Given the description of an element on the screen output the (x, y) to click on. 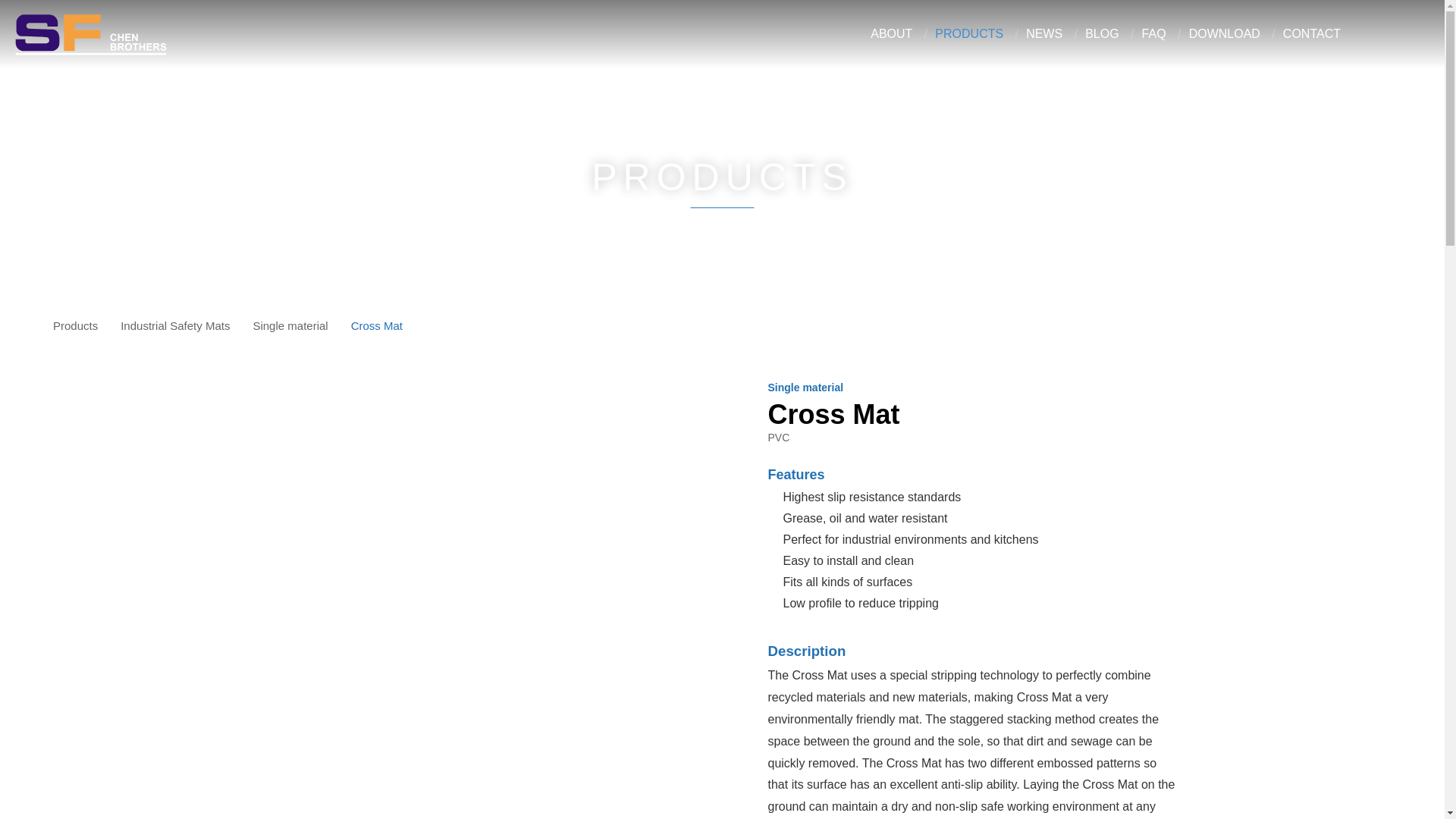
Singform Enterprise Co., Ltd. (90, 33)
PRODUCTS (968, 33)
NEWS (1044, 33)
ABOUT (891, 33)
BLOG (1101, 33)
FAQ (1153, 33)
CONTACT (1311, 33)
NEWS (1044, 33)
PRODUCTS (968, 33)
ABOUT (891, 33)
DOWNLOAD (1224, 33)
BLOG (1101, 33)
Search (1380, 34)
